Given the description of an element on the screen output the (x, y) to click on. 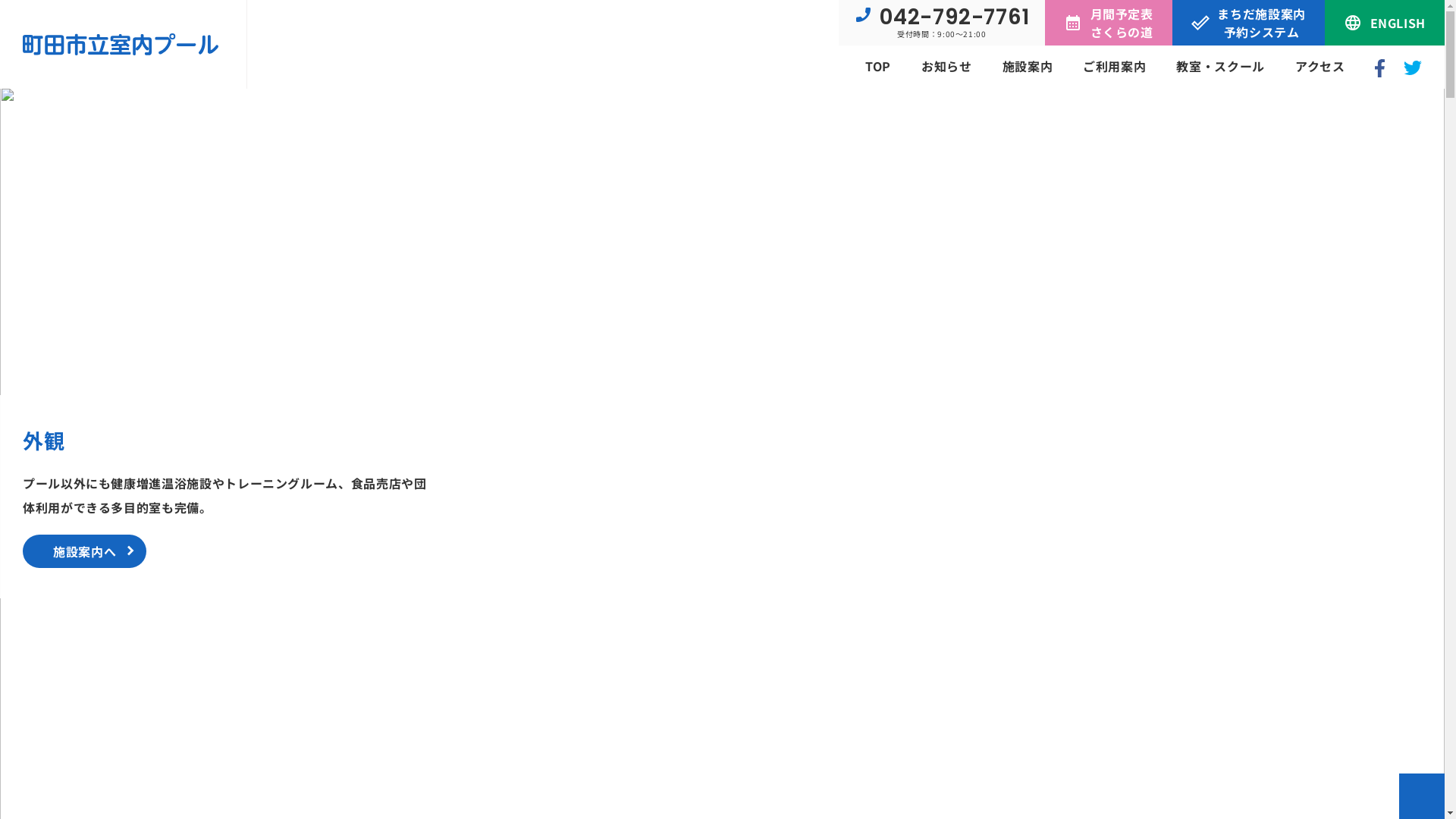
ENGLISH Element type: text (1384, 22)
TOP Element type: text (878, 65)
042-792-7761 Element type: text (941, 16)
